Given the description of an element on the screen output the (x, y) to click on. 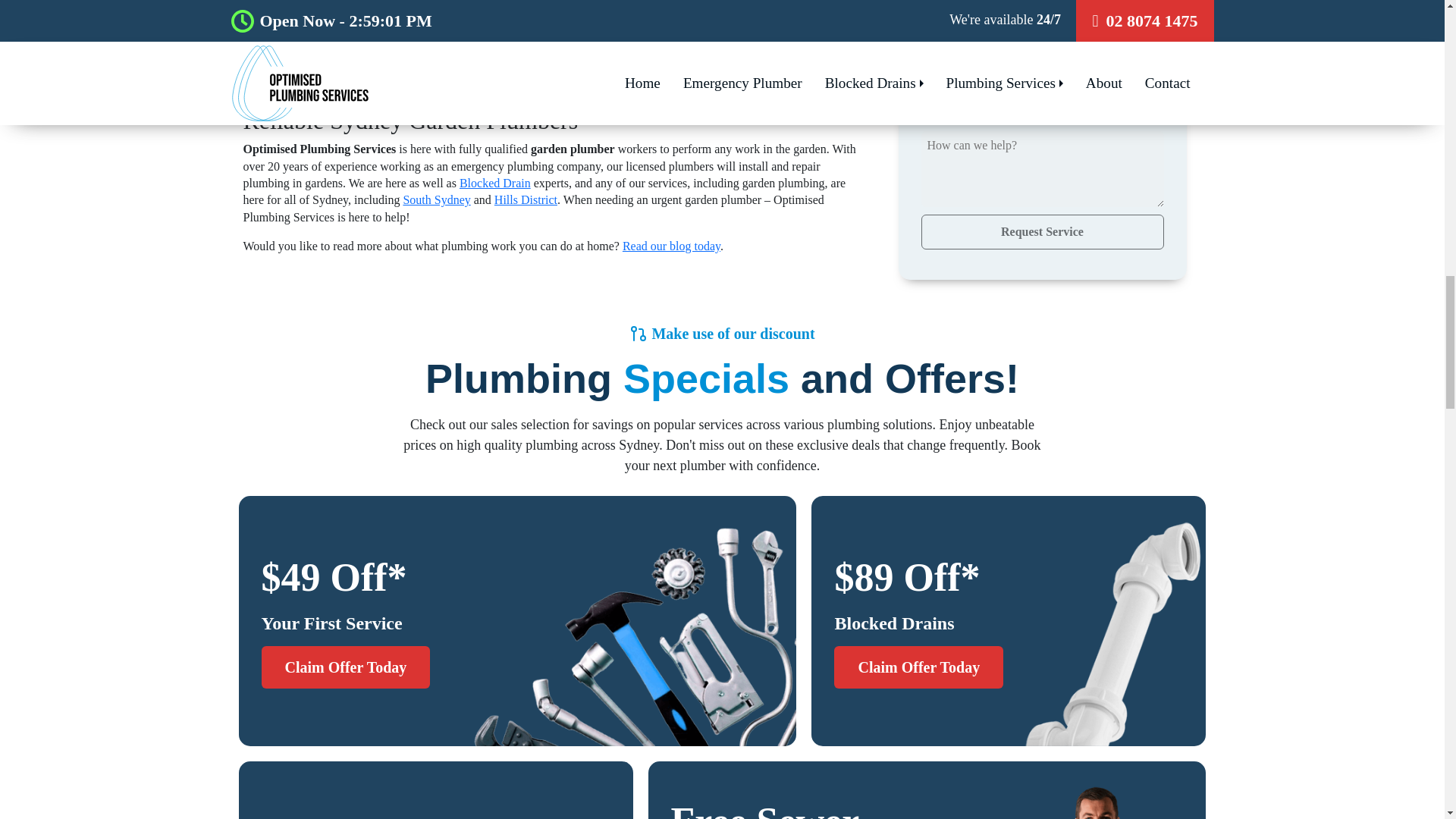
Blocked Drain (495, 182)
South Sydney (436, 199)
Read our blog today (671, 245)
Hills District (526, 199)
